Given the description of an element on the screen output the (x, y) to click on. 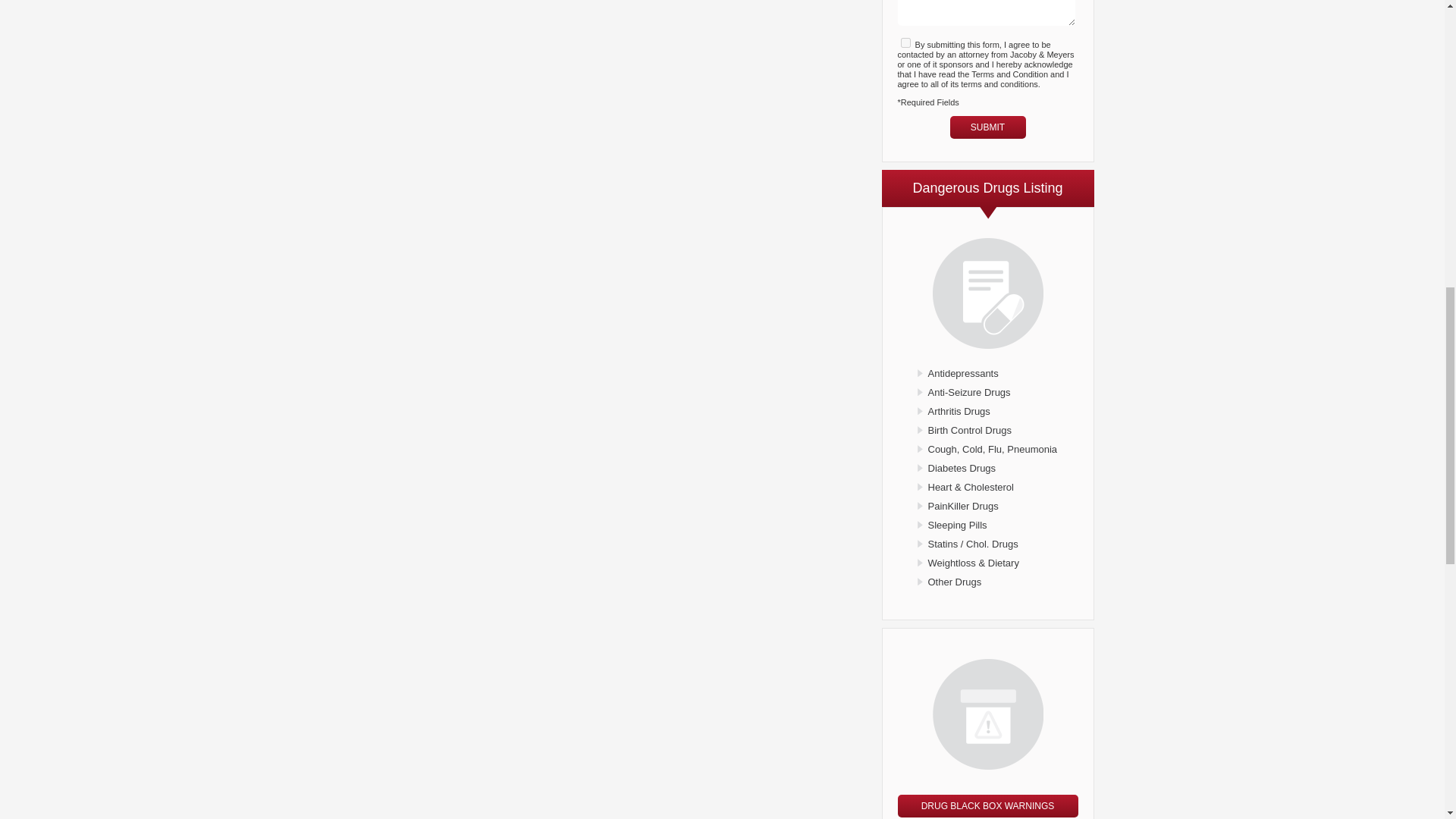
Antidepressants (963, 373)
Yes (906, 42)
Arthritis Drugs (959, 410)
Submit (987, 127)
Anti-Seizure Drugs (969, 392)
Submit (987, 127)
